Given the description of an element on the screen output the (x, y) to click on. 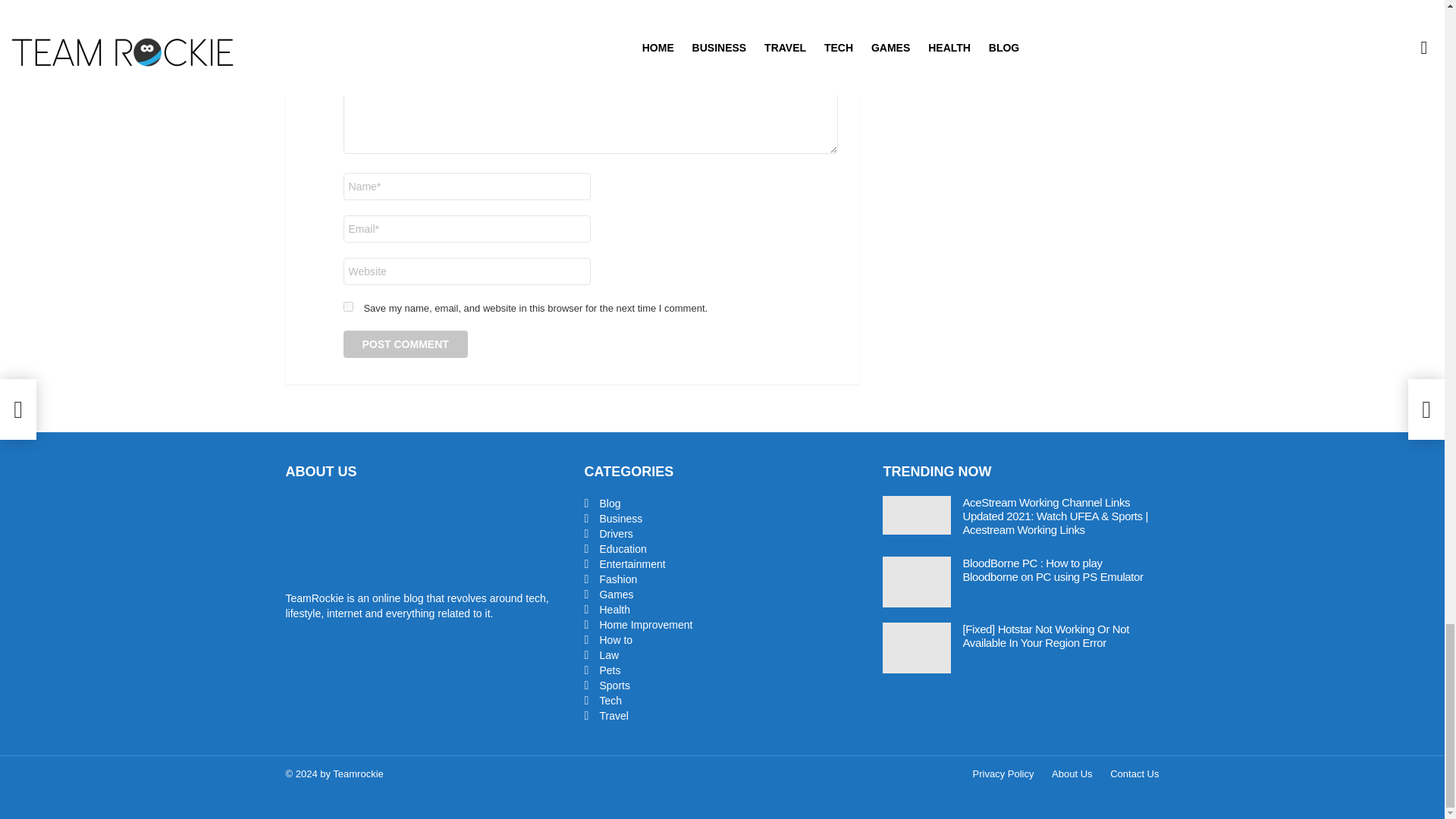
Post Comment (404, 343)
yes (347, 307)
